Given the description of an element on the screen output the (x, y) to click on. 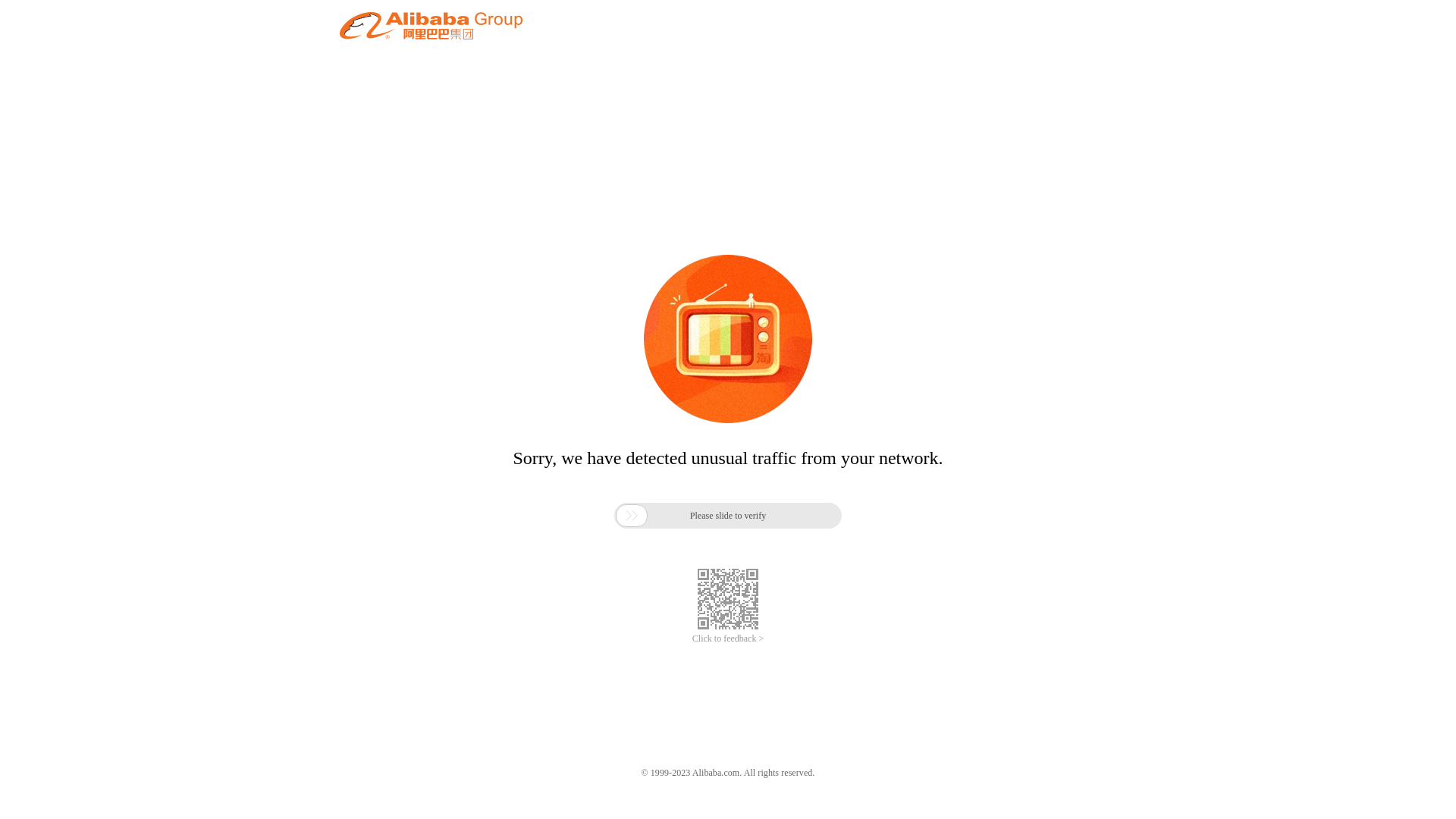
Click to feedback > Element type: text (727, 638)
